Given the description of an element on the screen output the (x, y) to click on. 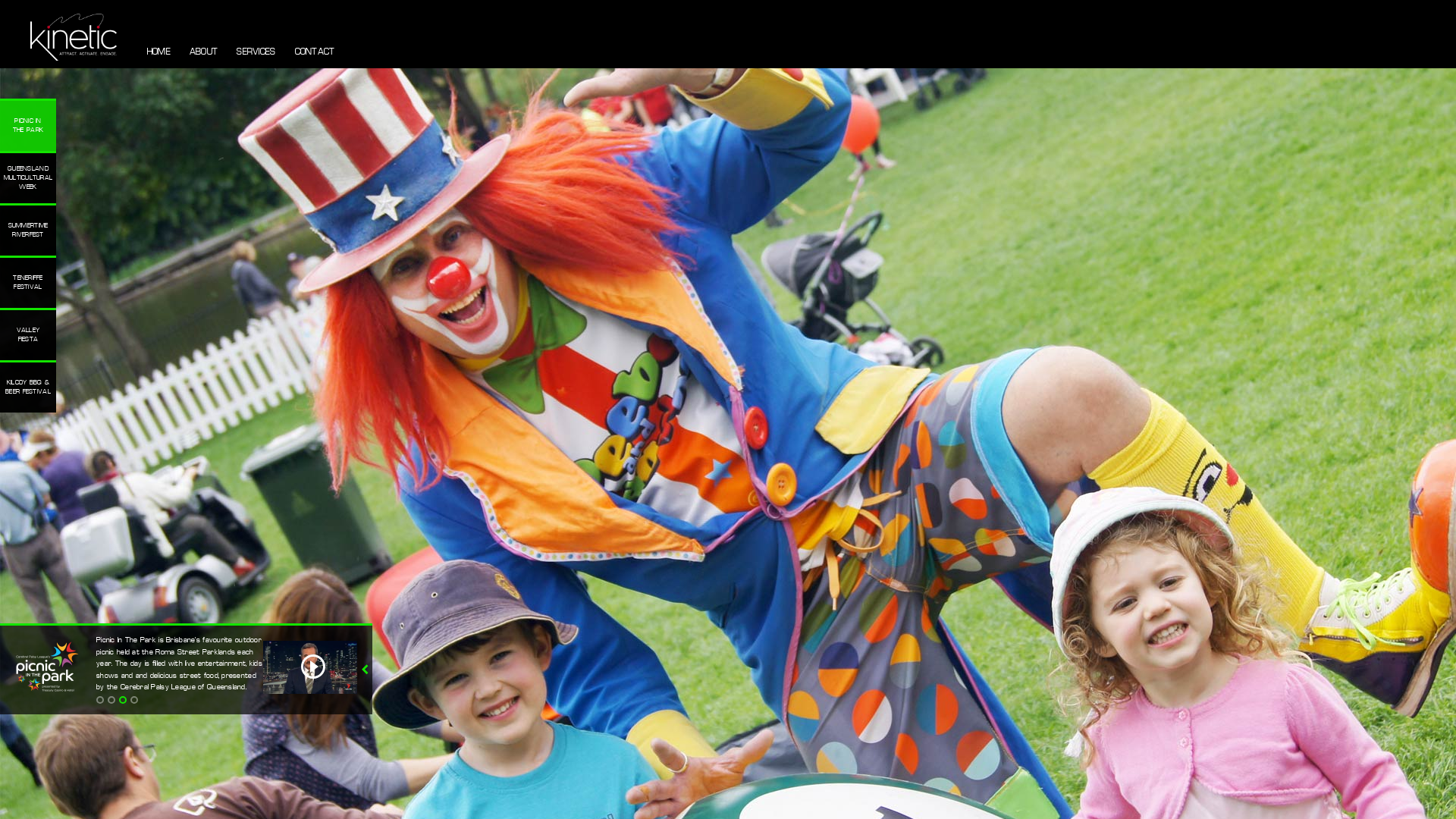
QUEENSLAND MULTICULTURAL WEEK Element type: text (28, 176)
TENERIFFE FESTIVAL Element type: text (28, 281)
PICNIC IN
THE PARK Element type: text (28, 124)
HOME Element type: text (158, 51)
VALLEY
FIESTA Element type: text (28, 333)
SUMMERTIME RIVERFEST Element type: text (28, 229)
ABOUT Element type: text (203, 51)
Play Element type: text (310, 691)
KILCOY BBQ & BEER FESTIVAL Element type: text (28, 386)
SERVICES Element type: text (255, 51)
CONTACT Element type: text (314, 51)
